Given the description of an element on the screen output the (x, y) to click on. 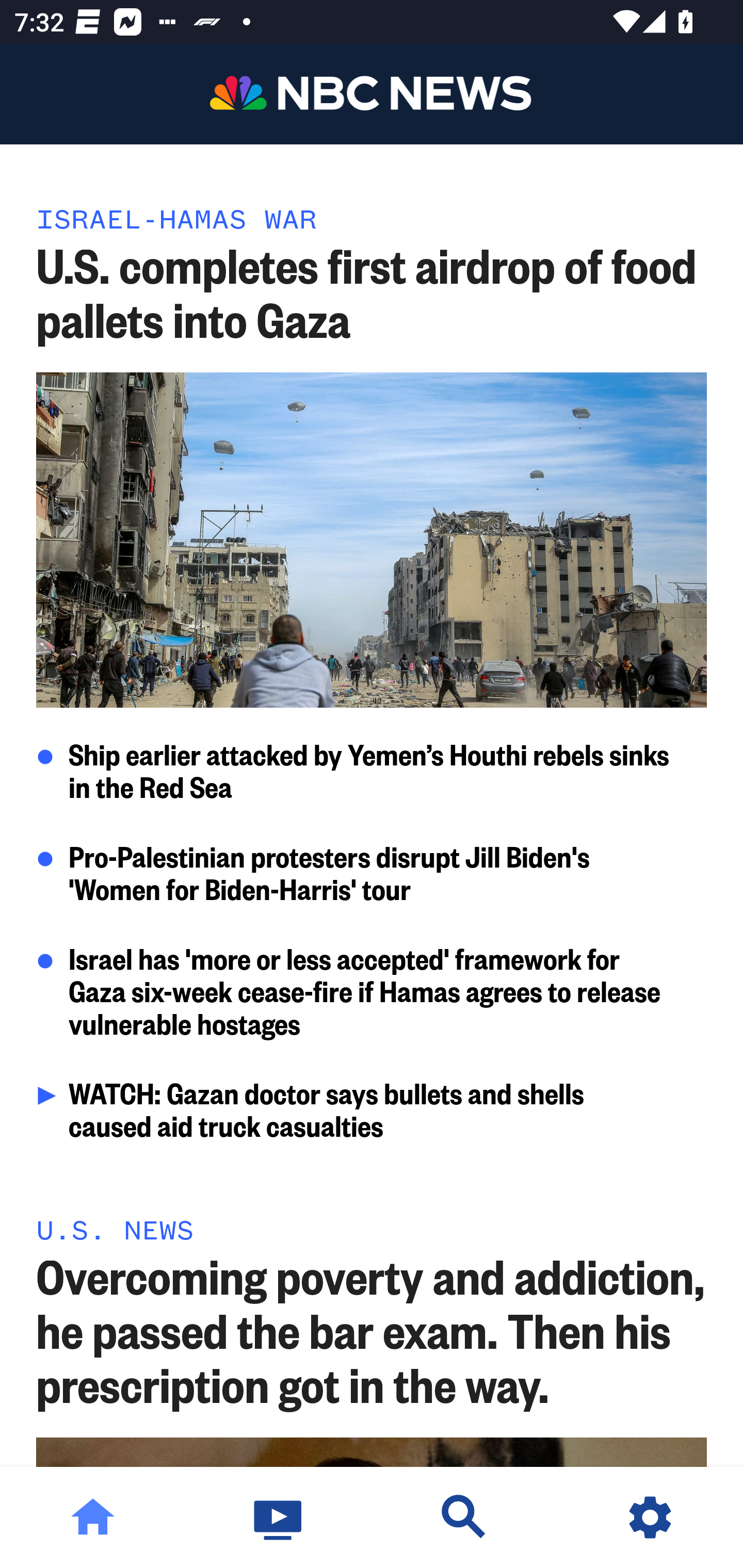
Watch (278, 1517)
Discover (464, 1517)
Settings (650, 1517)
